Given the description of an element on the screen output the (x, y) to click on. 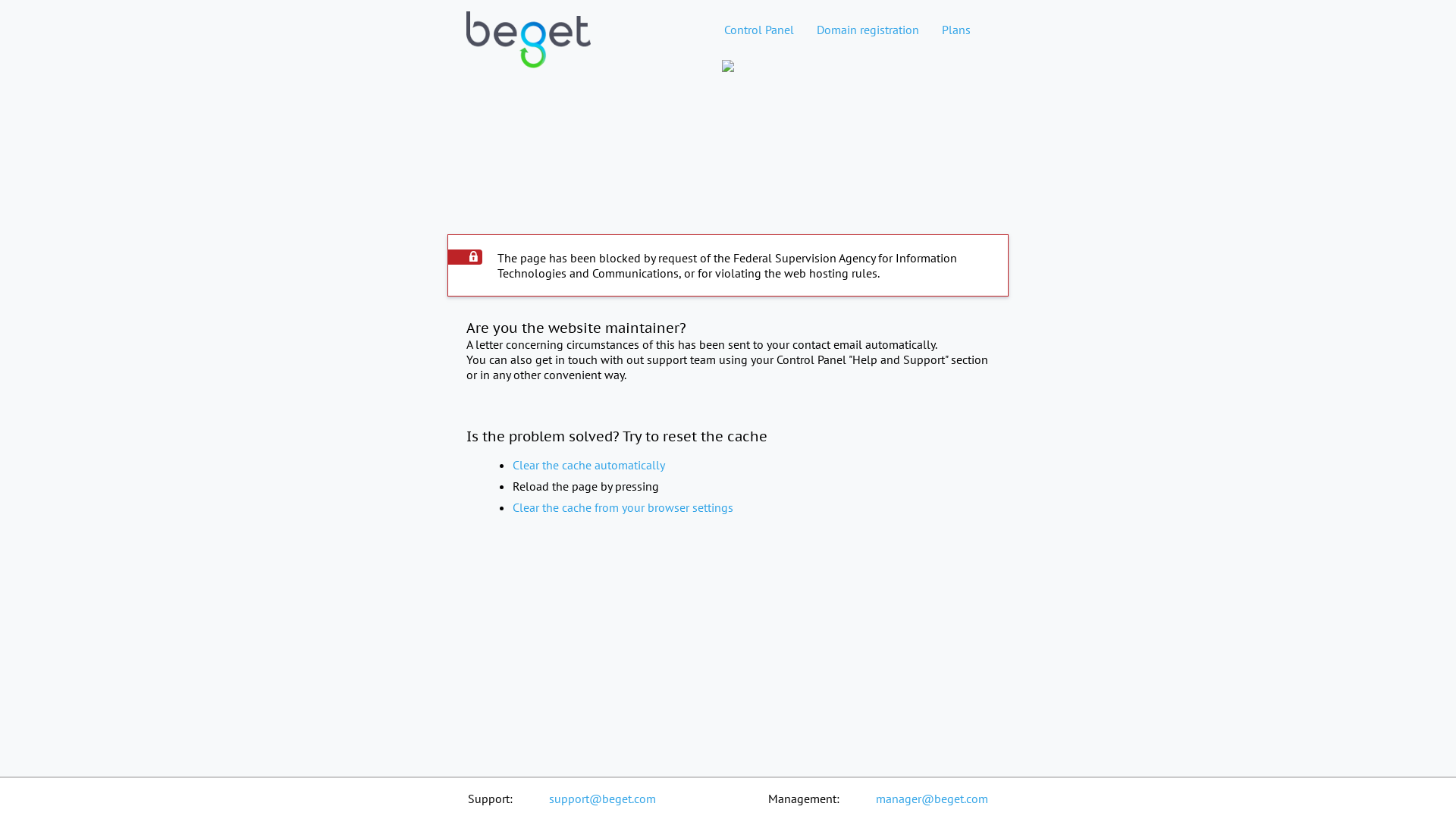
Clear the cache from your browser settings Element type: text (622, 506)
Web hosting home page Element type: hover (528, 51)
manager@beget.com Element type: text (931, 798)
Clear the cache automatically Element type: text (588, 464)
Plans Element type: text (956, 29)
Control Panel Element type: text (758, 29)
support@beget.com Element type: text (602, 798)
Domain registration Element type: text (867, 29)
